Given the description of an element on the screen output the (x, y) to click on. 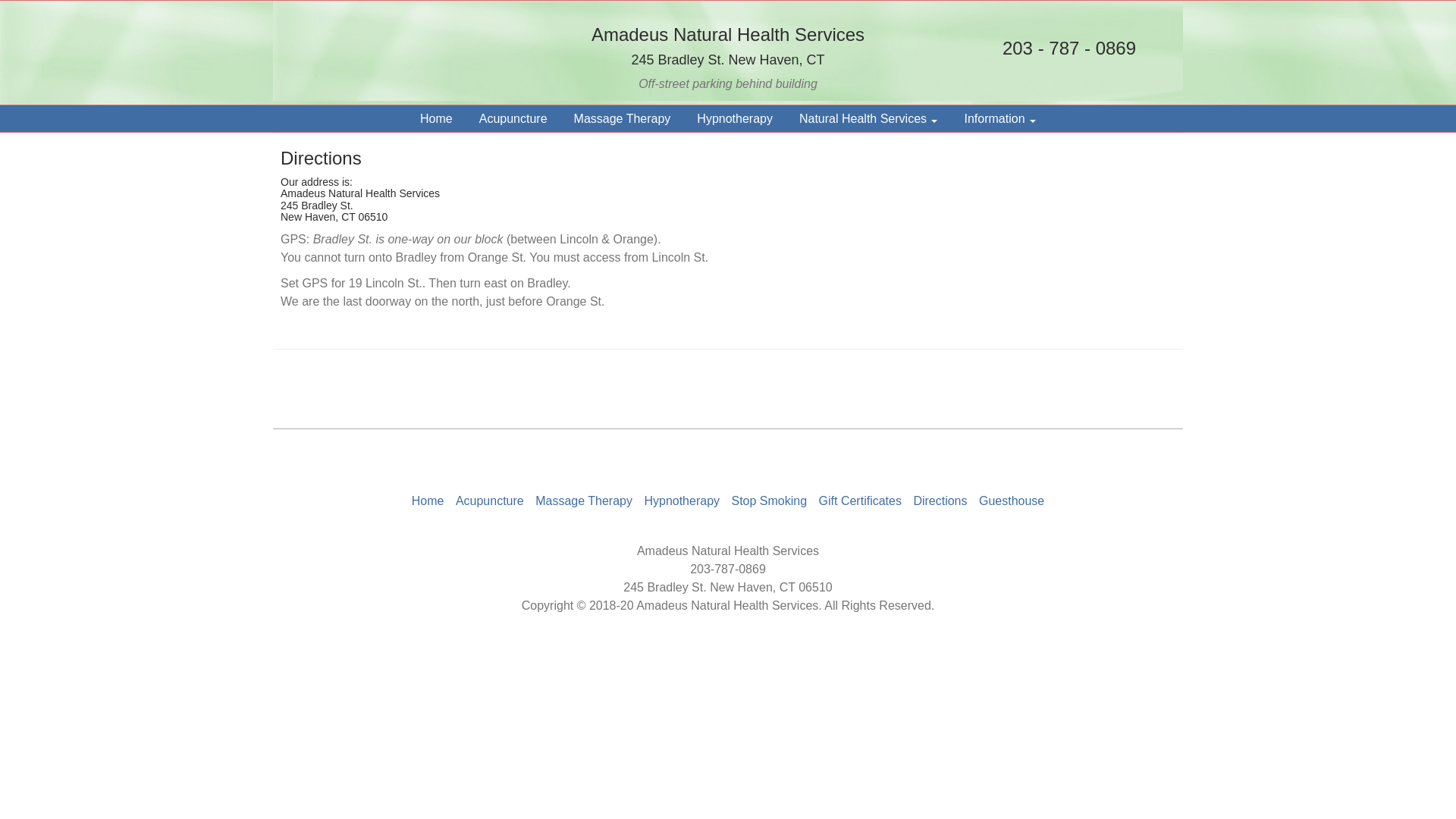
Home (436, 117)
Acupuncture (512, 117)
Information (999, 117)
Home (428, 500)
Hypnotherapy (734, 117)
Natural Health Services (868, 117)
Massage Therapy (622, 117)
